Given the description of an element on the screen output the (x, y) to click on. 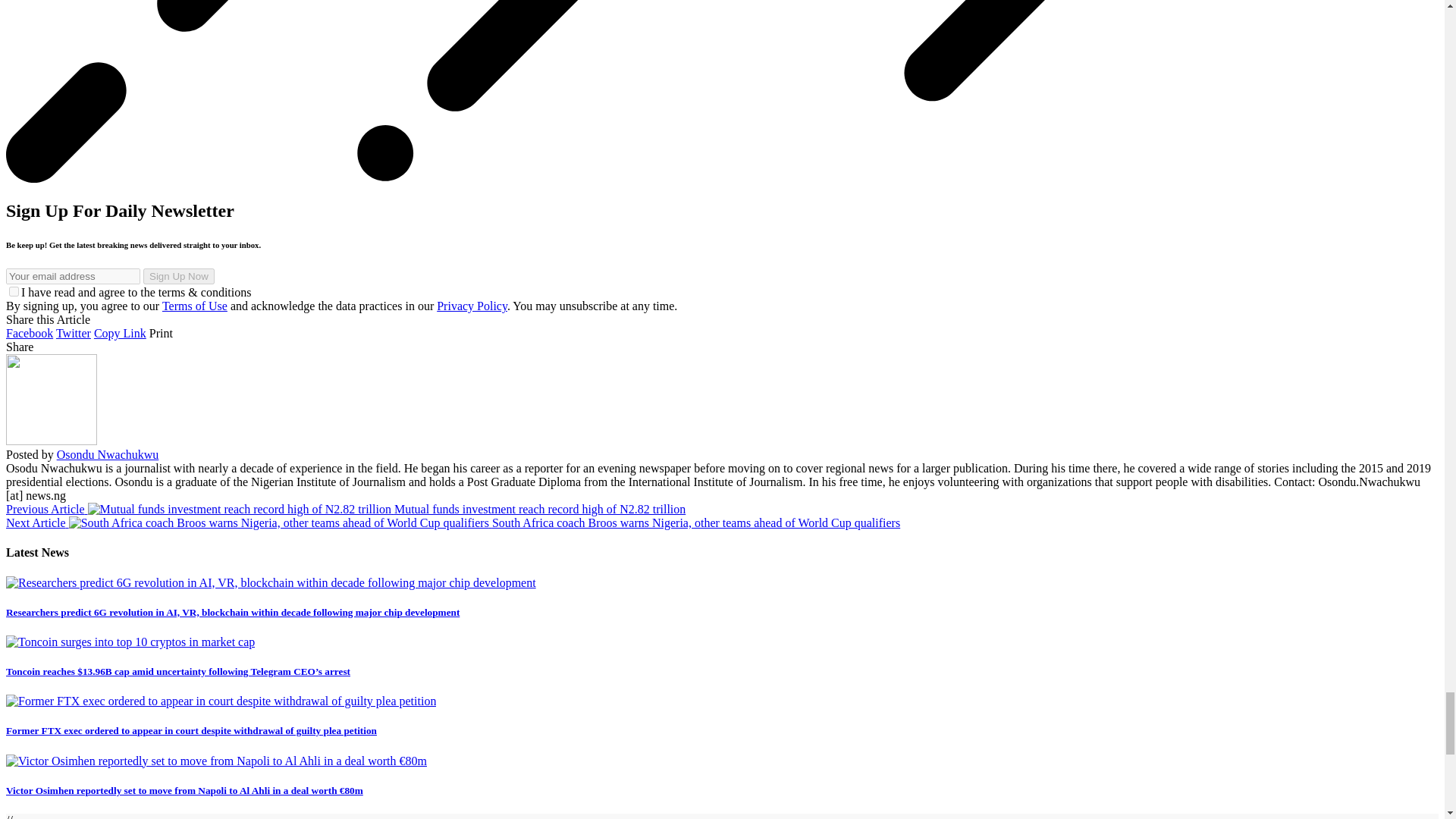
Sign Up Now (178, 276)
1 (13, 291)
